Given the description of an element on the screen output the (x, y) to click on. 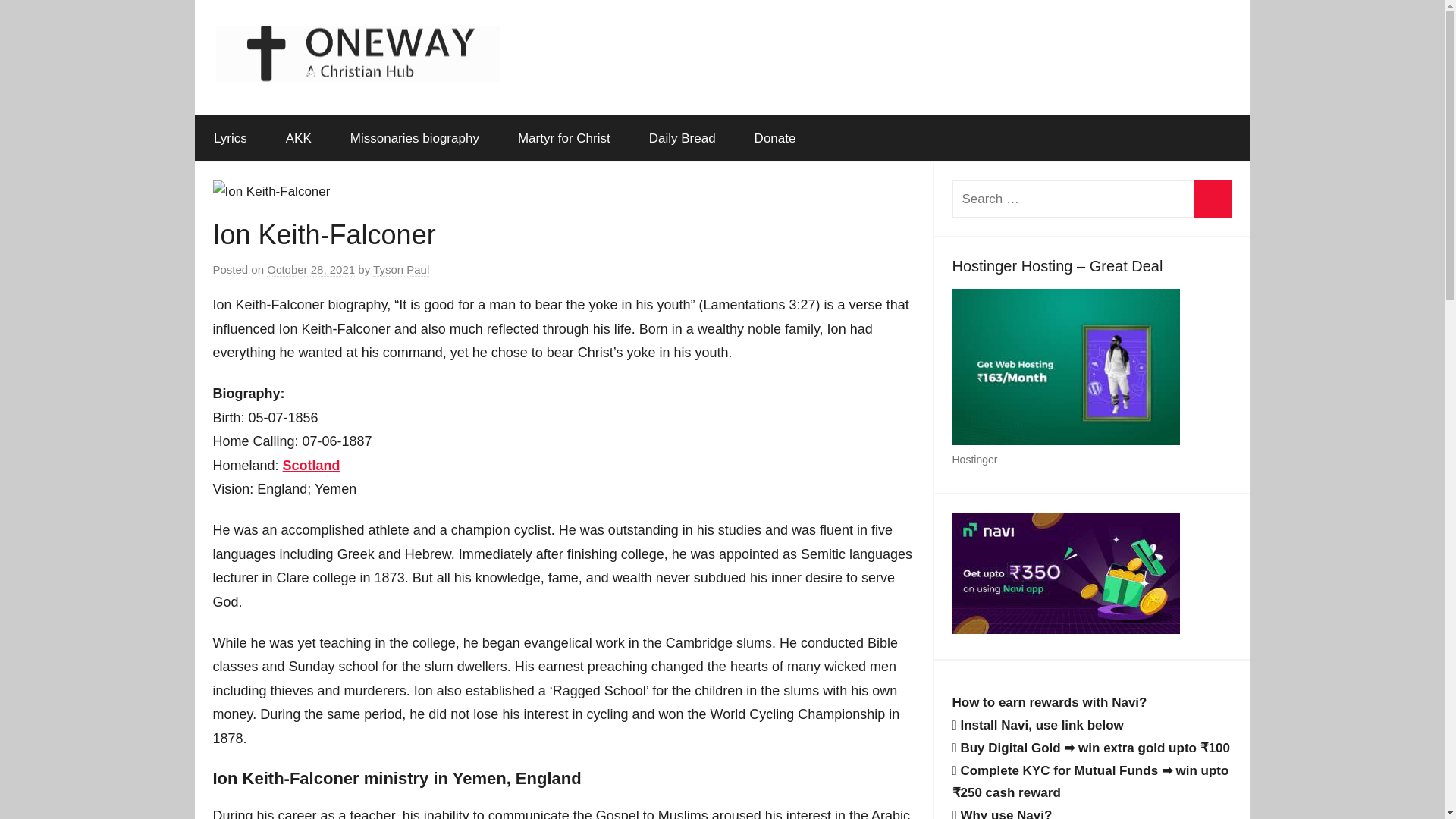
Donate (775, 137)
Missonaries biography (413, 137)
Daily Bread (681, 137)
Scotland (311, 465)
October 28, 2021 (310, 269)
Tyson Paul (400, 269)
Lyrics (229, 137)
Search for: (1091, 198)
Search (1212, 198)
Martyr for Christ (562, 137)
AKK (298, 137)
View all posts by Tyson Paul (400, 269)
